Given the description of an element on the screen output the (x, y) to click on. 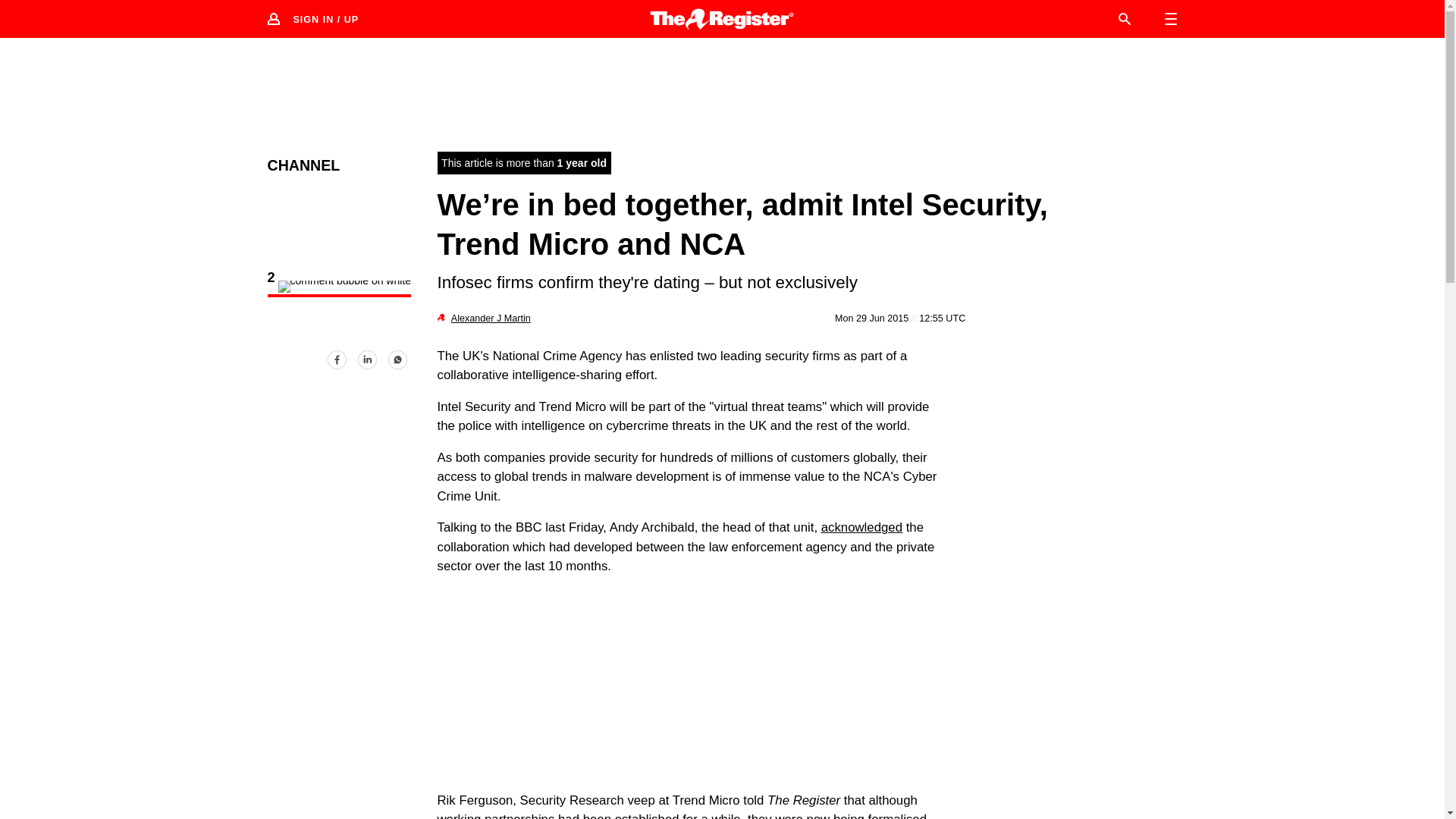
View comments on this article (338, 287)
Read more by this author (491, 318)
